Given the description of an element on the screen output the (x, y) to click on. 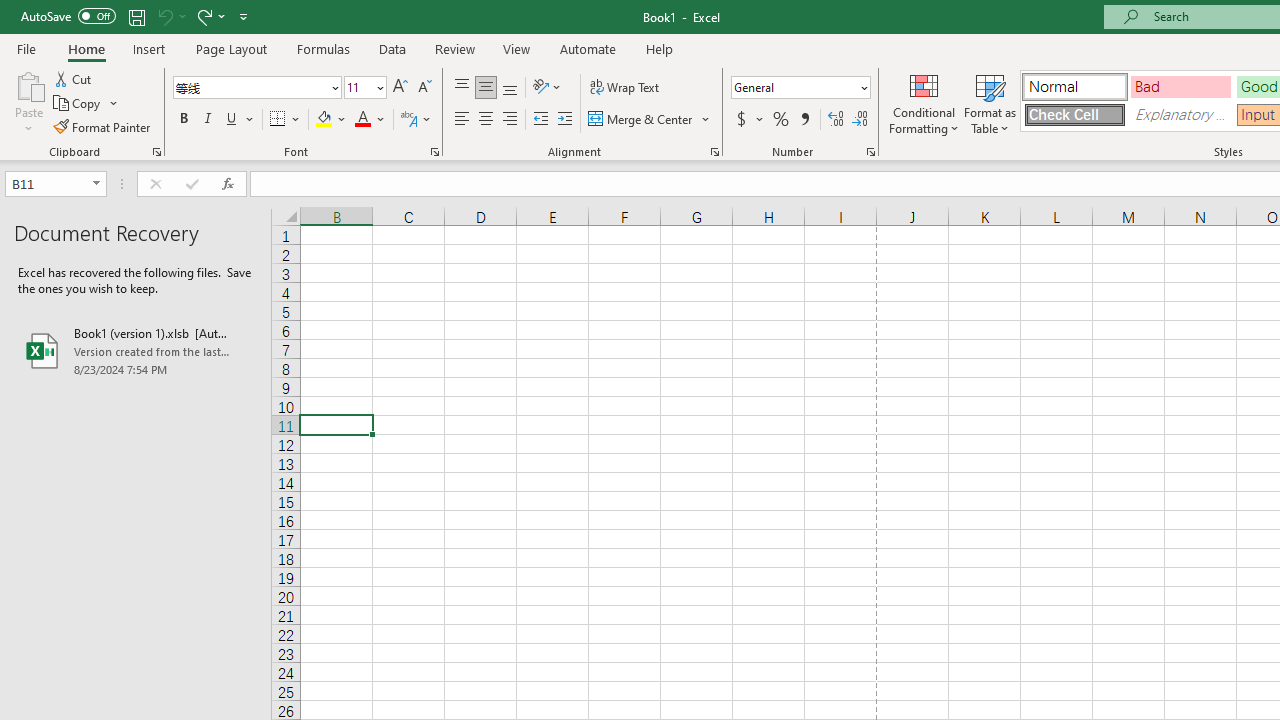
Decrease Decimal (859, 119)
Decrease Font Size (424, 87)
Font Color (370, 119)
Format Painter (103, 126)
Font Size (358, 87)
Check Cell (1074, 114)
Number Format (800, 87)
Italic (207, 119)
Underline (232, 119)
Format as Table (990, 102)
Center (485, 119)
Increase Decimal (836, 119)
